Given the description of an element on the screen output the (x, y) to click on. 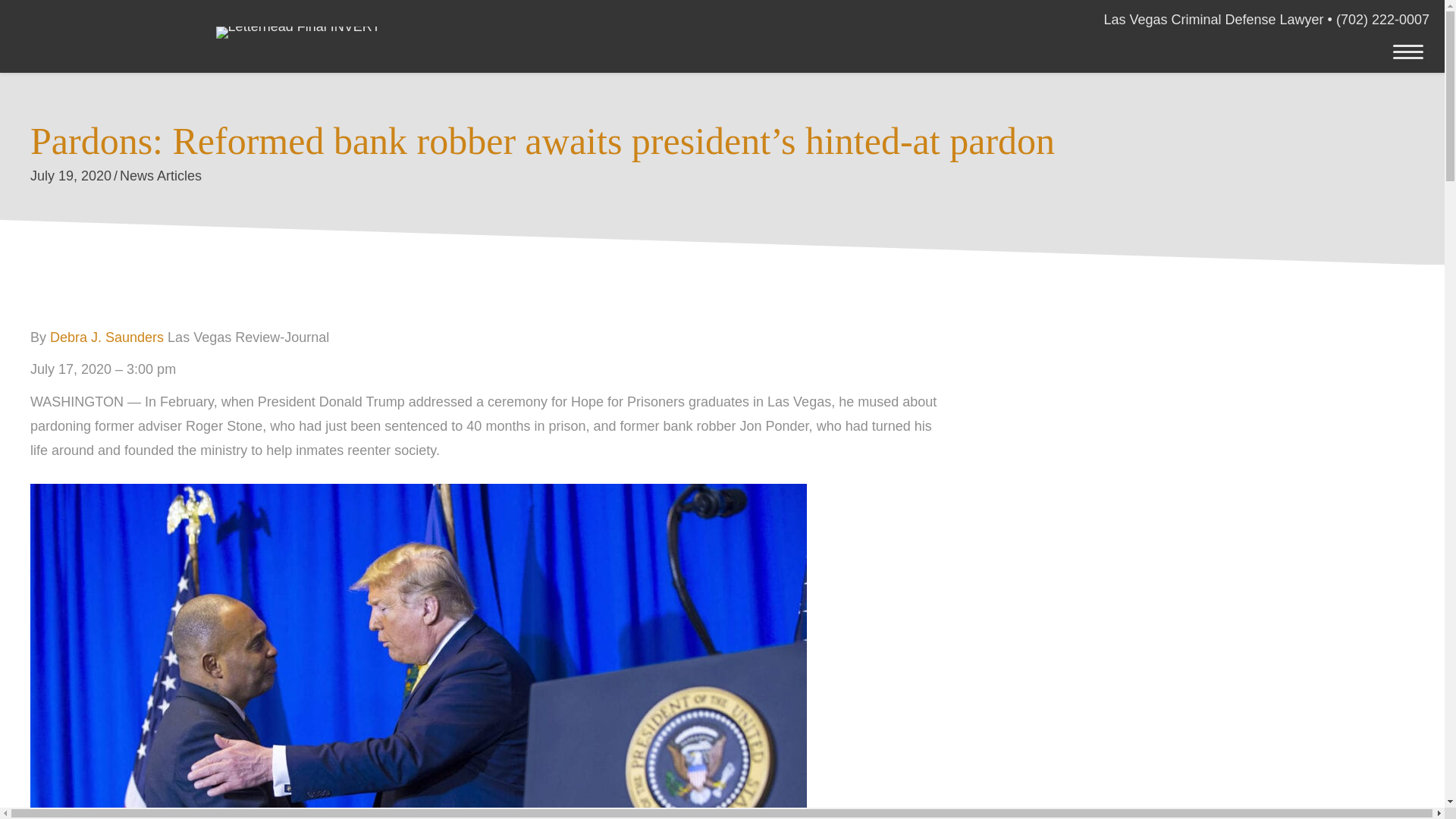
News Articles (160, 175)
Debra J. Saunders (106, 337)
Letterhead Final INVERT (297, 32)
